Given the description of an element on the screen output the (x, y) to click on. 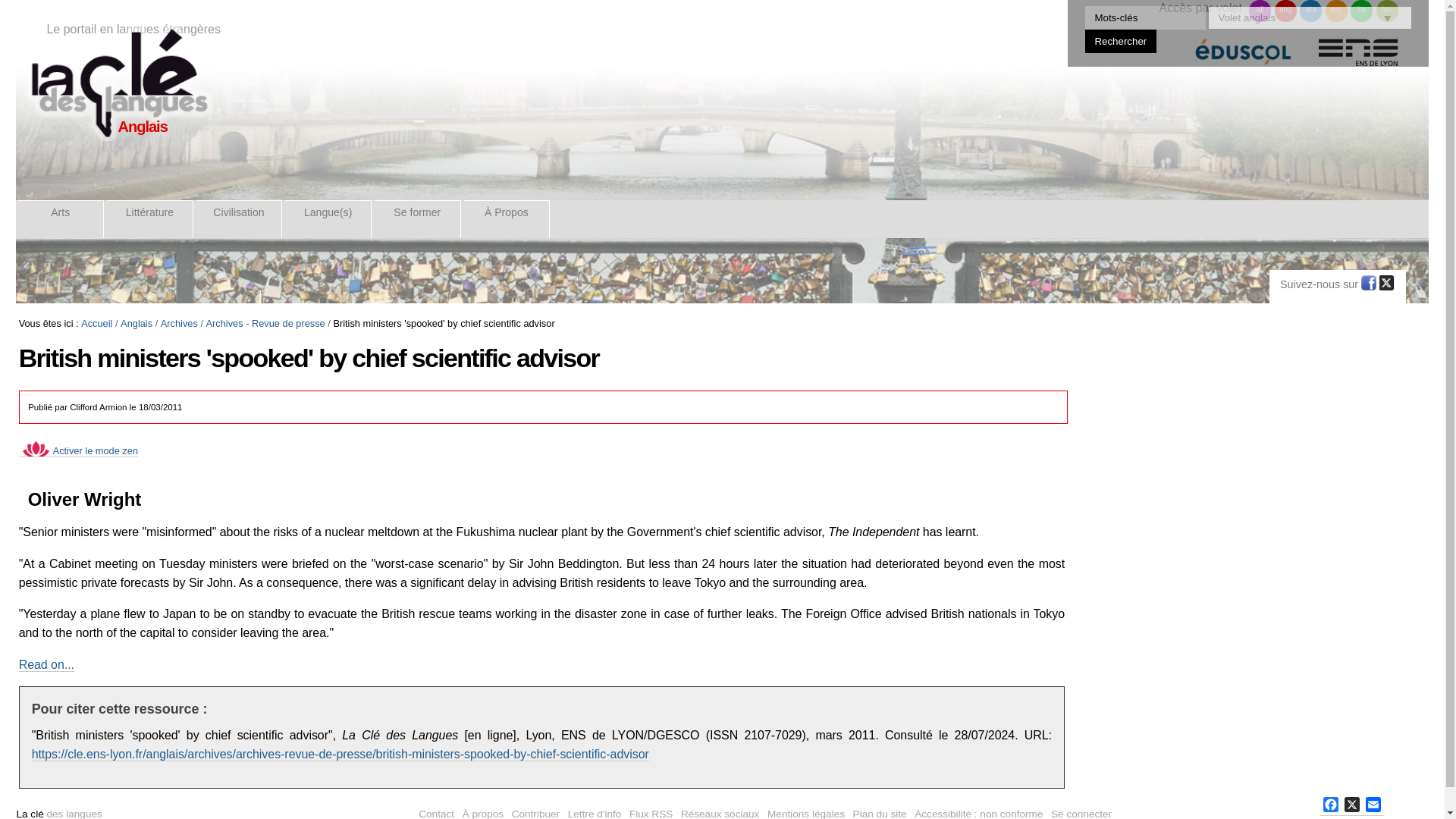
Se former (417, 218)
esp (1336, 11)
Arts (60, 218)
Retour au portail (117, 82)
Rechercher (1120, 41)
Rechercher (1120, 41)
ita (1362, 11)
ENS Lyon (1358, 59)
Recherche (1145, 17)
Rechercher (1120, 41)
EduScol (1243, 59)
all (1260, 11)
ara (1311, 11)
ang (1286, 11)
lan (1386, 11)
